Given the description of an element on the screen output the (x, y) to click on. 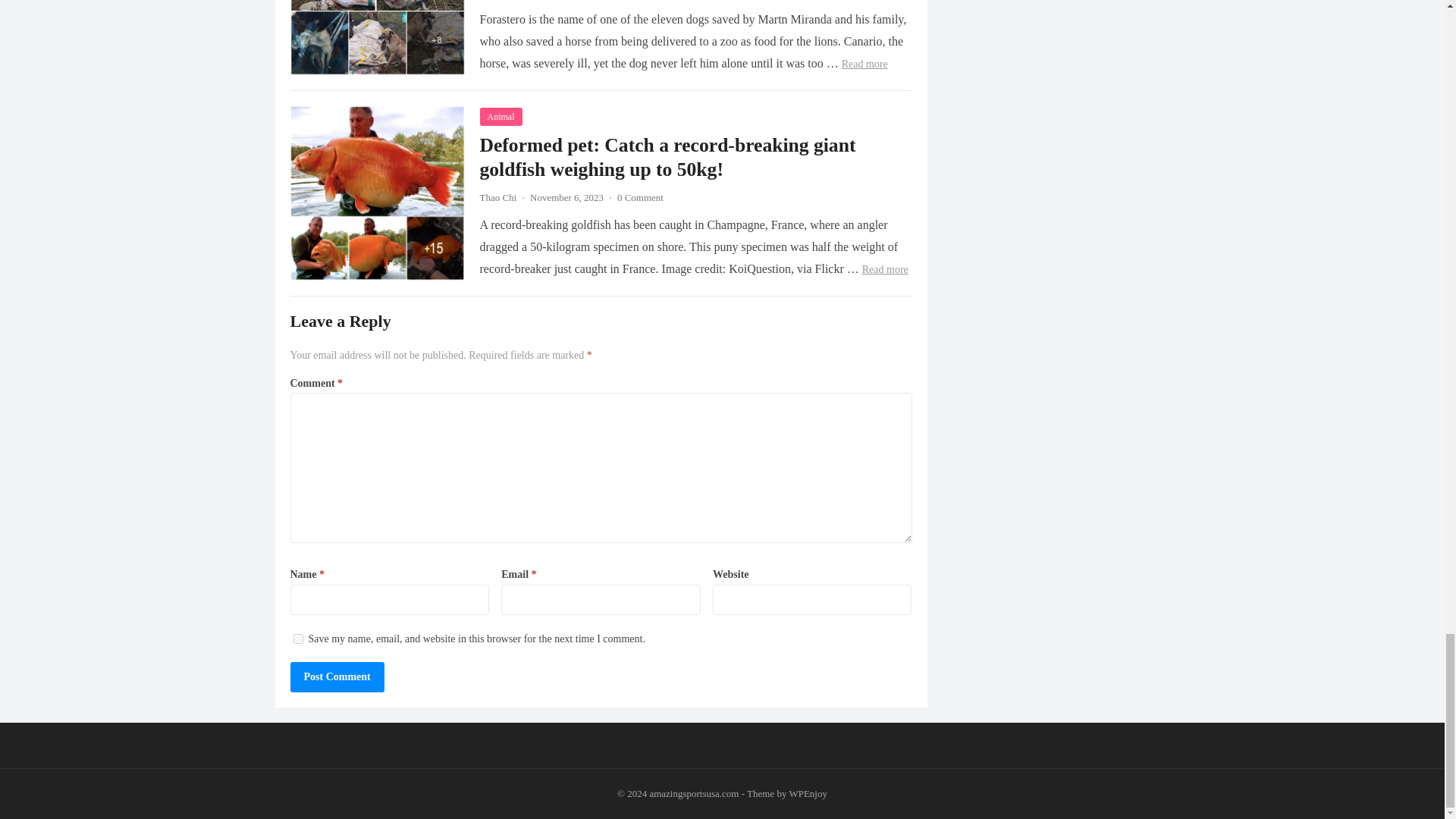
Post Comment (336, 676)
yes (297, 638)
Posts by Thao Chi (497, 197)
